Given the description of an element on the screen output the (x, y) to click on. 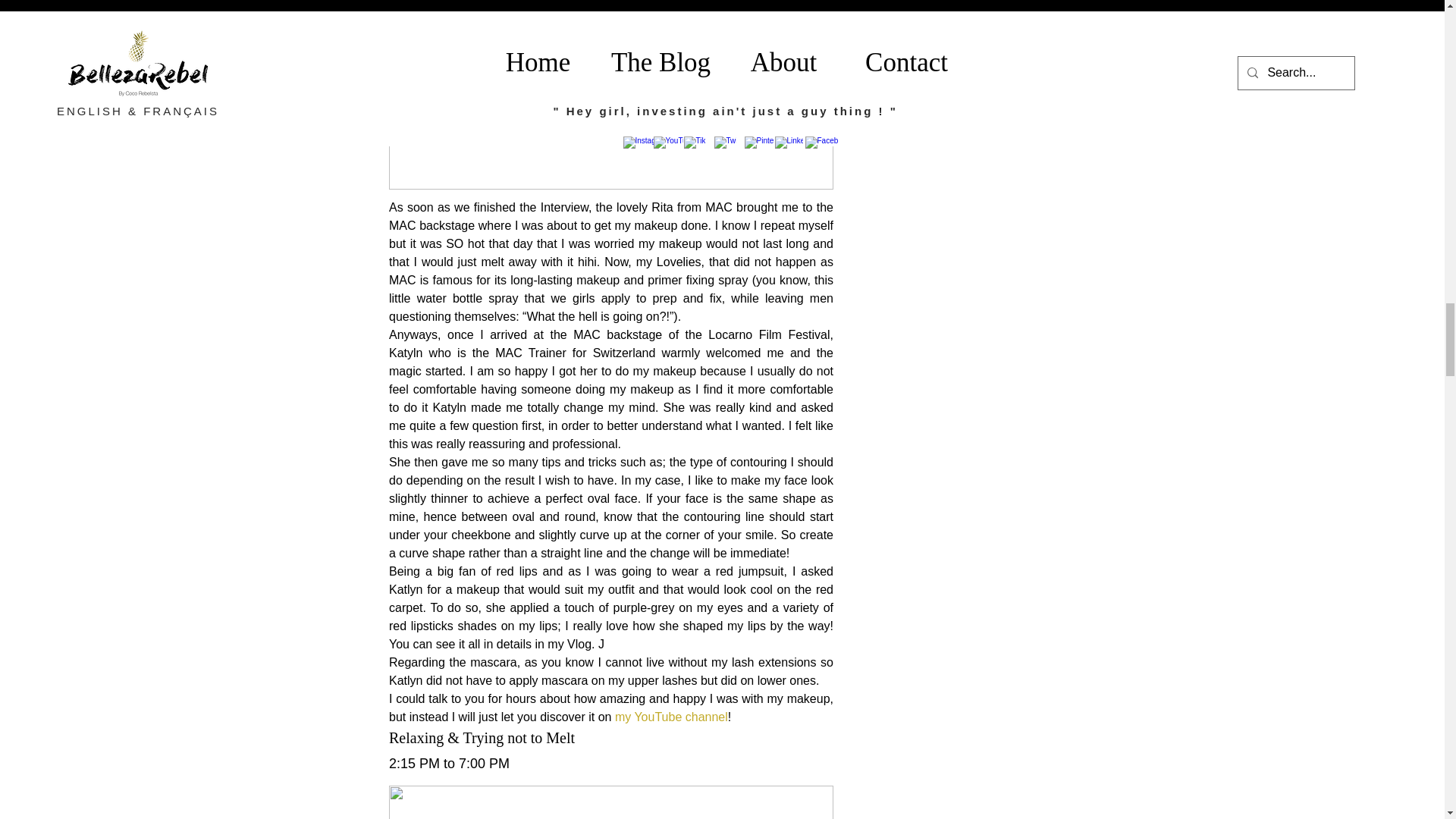
my YouTube channel (670, 716)
